Given the description of an element on the screen output the (x, y) to click on. 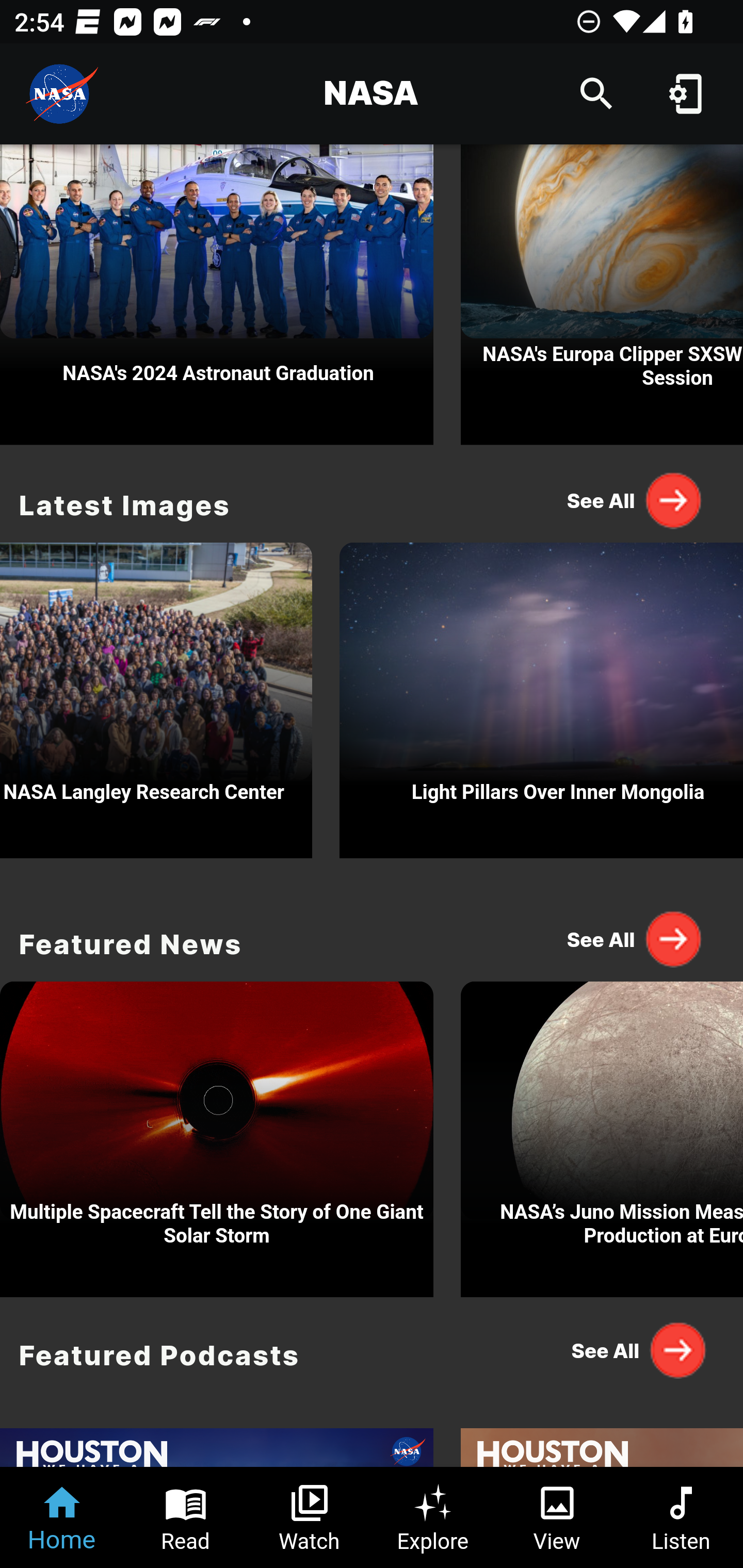
NASA's 2024 Astronaut Graduation (216, 294)
NASA's Europa Clipper SXSW 2024 Opening Session (601, 294)
See All (634, 500)
Women of NASA Langley Research Center (156, 695)
Light Pillars Over Inner Mongolia (541, 695)
See All (634, 938)
See All (634, 1349)
Home
Tab 1 of 6 (62, 1517)
Read
Tab 2 of 6 (185, 1517)
Watch
Tab 3 of 6 (309, 1517)
Explore
Tab 4 of 6 (433, 1517)
View
Tab 5 of 6 (556, 1517)
Listen
Tab 6 of 6 (680, 1517)
